Given the description of an element on the screen output the (x, y) to click on. 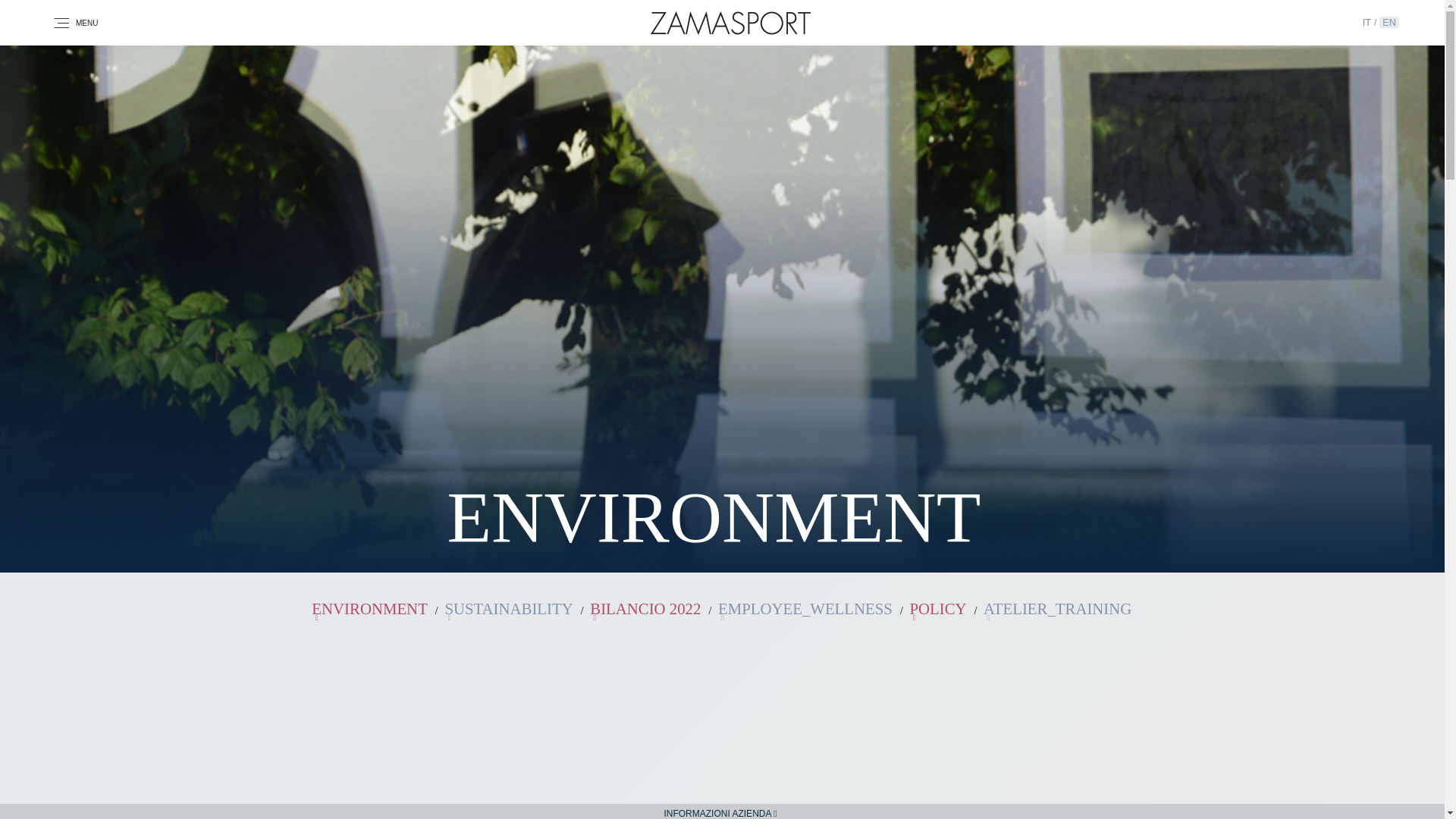
EN (1388, 21)
SUSTAINABILITY (509, 608)
POLICY (938, 608)
IT (1368, 21)
Zamasport s.p.a (730, 22)
BILANCIO 2022 (646, 608)
ENVIRONMENT (370, 608)
